Given the description of an element on the screen output the (x, y) to click on. 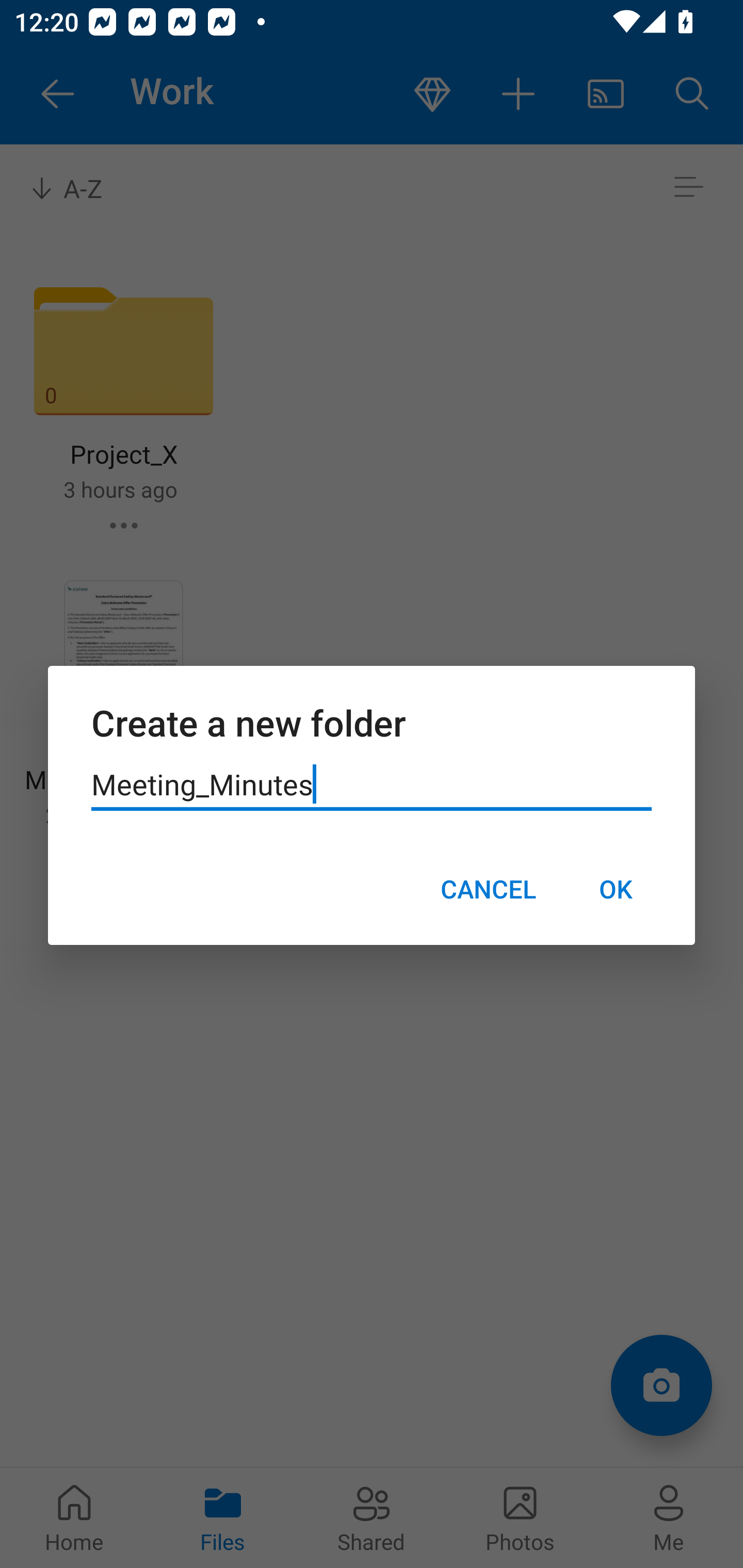
Meeting_Minutes (371, 784)
CANCEL (488, 888)
OK (615, 888)
